Given the description of an element on the screen output the (x, y) to click on. 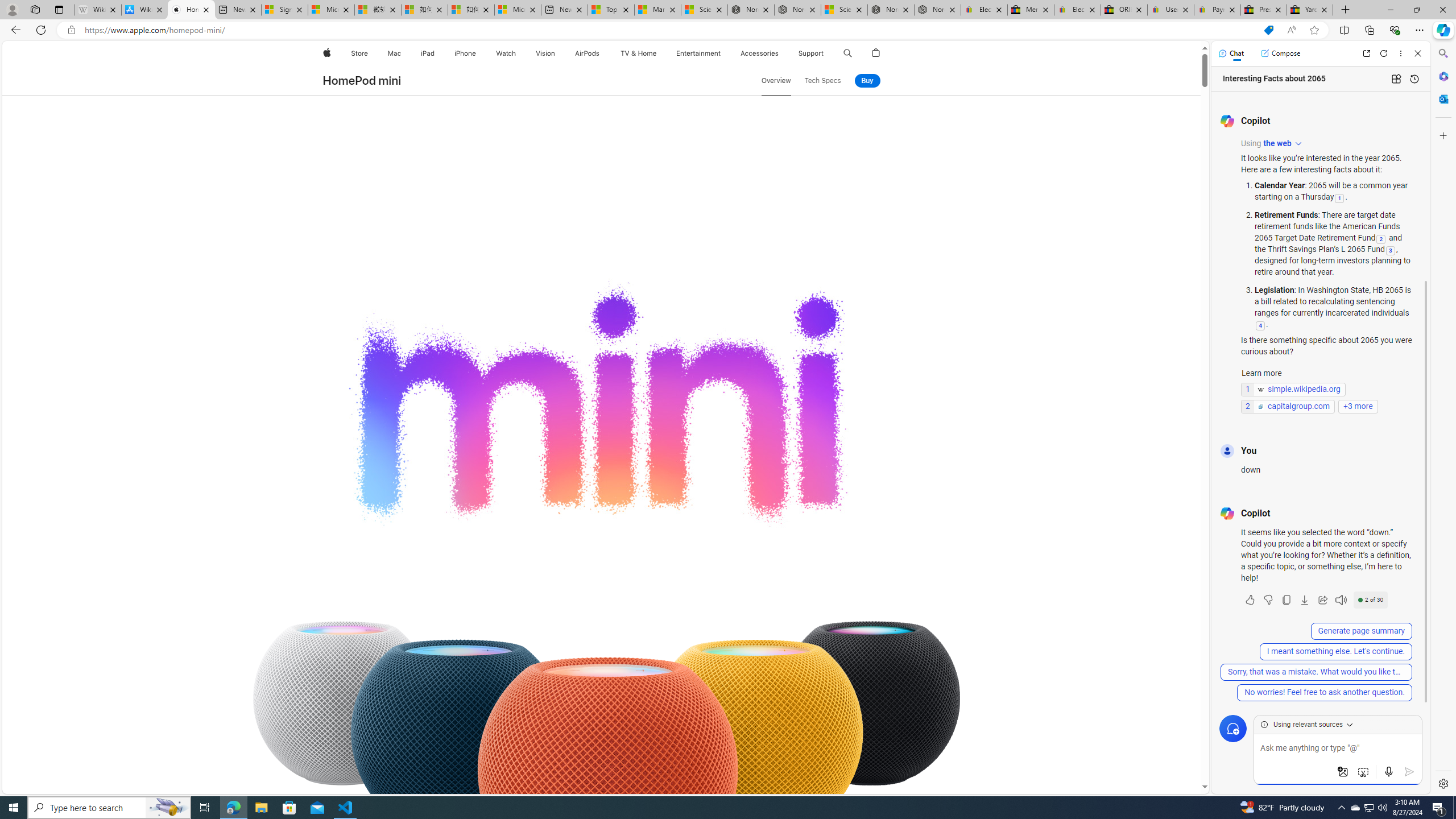
TV & Home (637, 53)
Store (359, 53)
Search apple.com (847, 53)
Nordace - FAQ (937, 9)
Apple (325, 53)
